Given the description of an element on the screen output the (x, y) to click on. 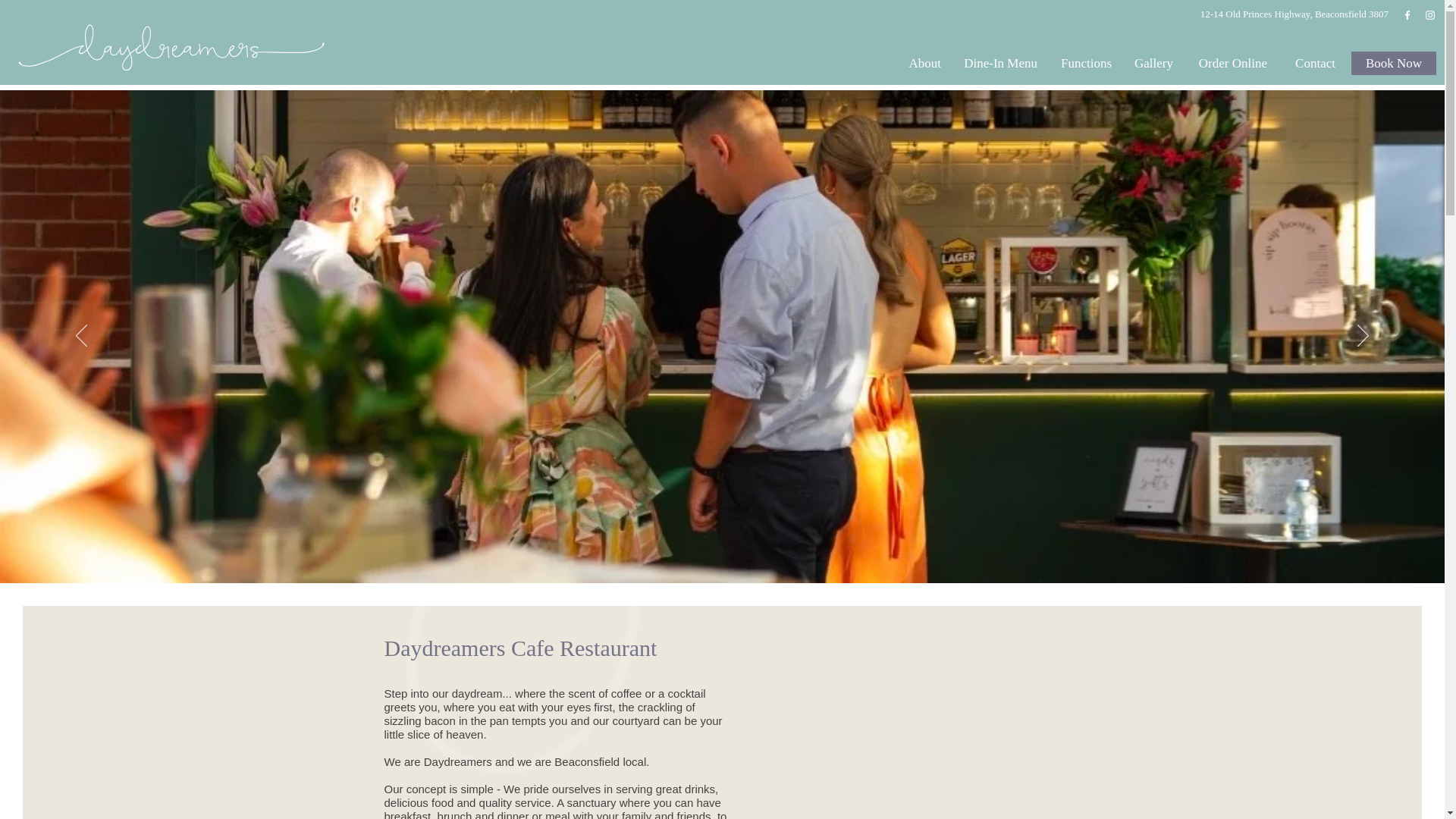
Contact (1312, 63)
Functions (1085, 63)
Gallery (1153, 63)
Dine-In Menu (1000, 63)
Book Now (1393, 63)
About (924, 63)
Order Online (1231, 63)
